Given the description of an element on the screen output the (x, y) to click on. 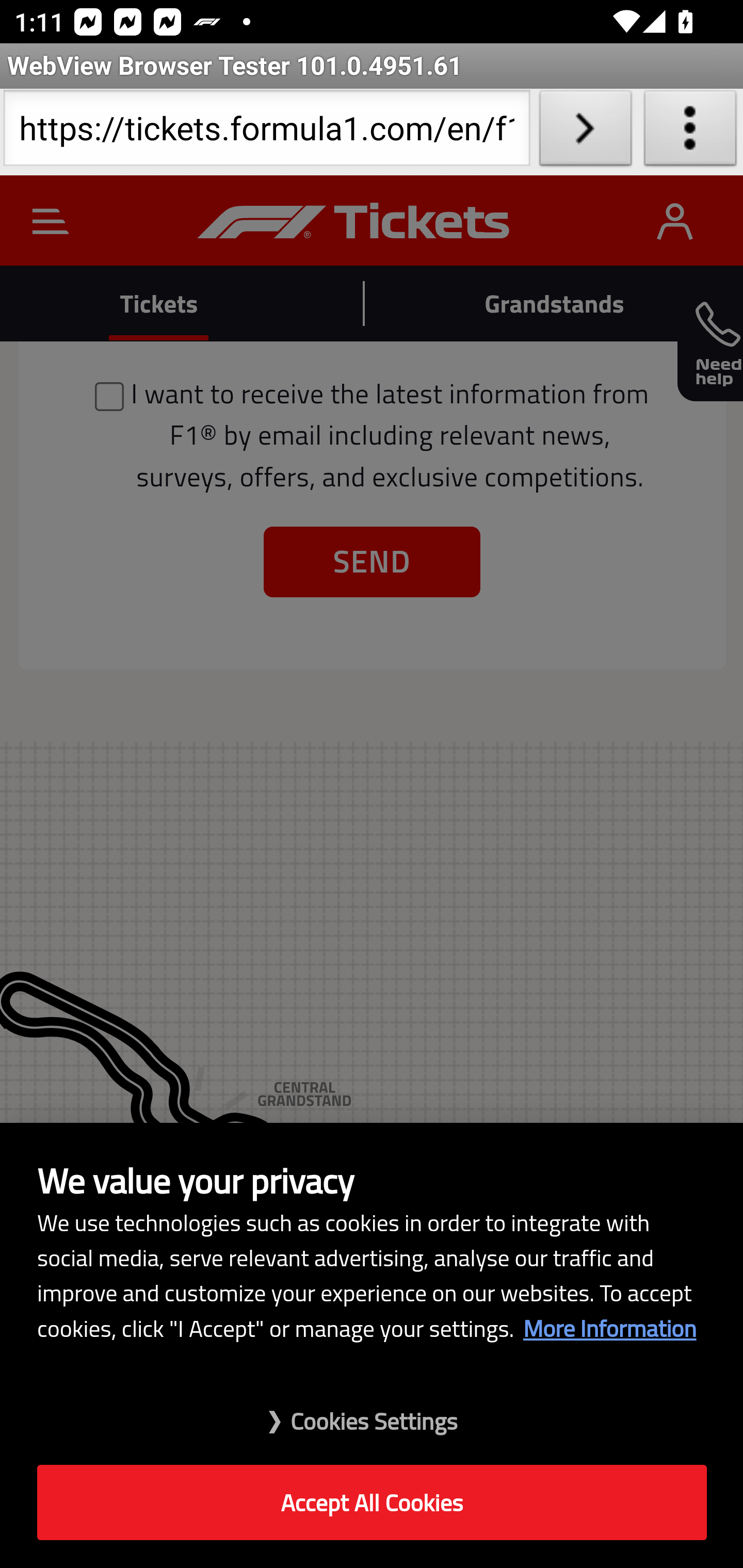
Load URL (585, 132)
About WebView (690, 132)
More Information (608, 1327)
❯Cookies Settings (372, 1411)
Accept All Cookies (372, 1502)
